Given the description of an element on the screen output the (x, y) to click on. 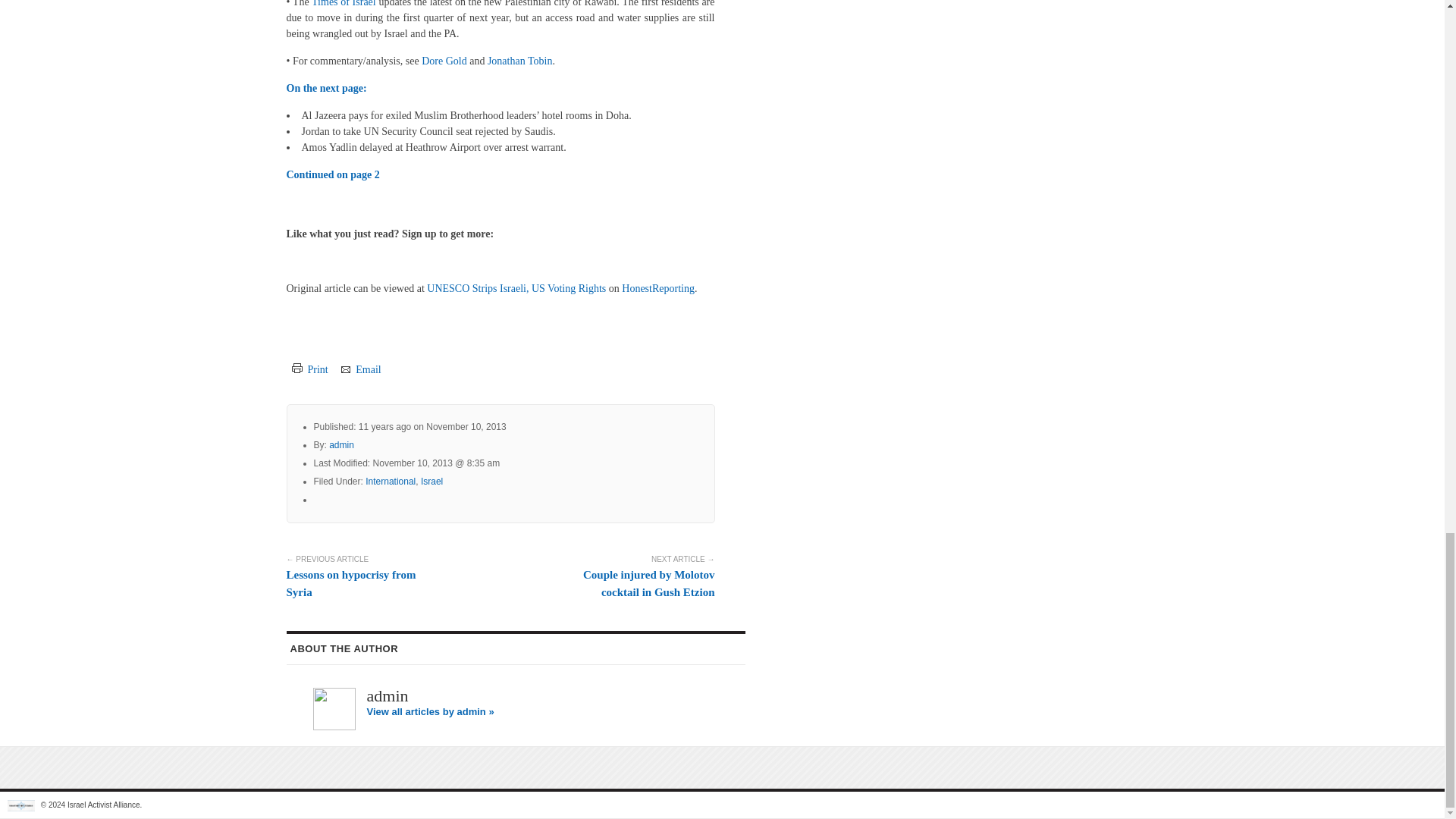
Posts by admin (387, 695)
Print Article (309, 369)
Email Article (360, 369)
Posts by admin (341, 444)
